Given the description of an element on the screen output the (x, y) to click on. 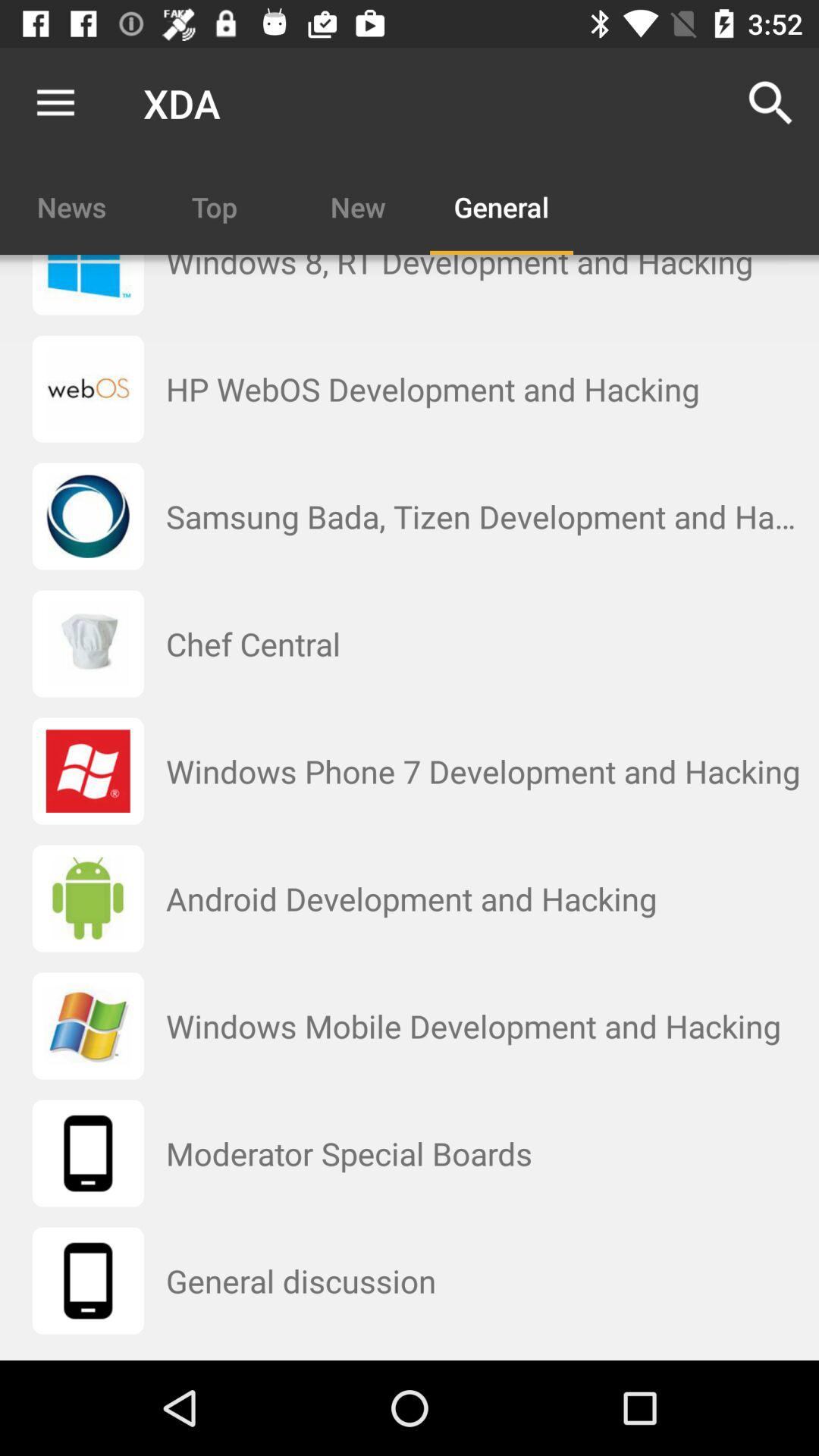
choose the icon at the top right corner (771, 103)
